Given the description of an element on the screen output the (x, y) to click on. 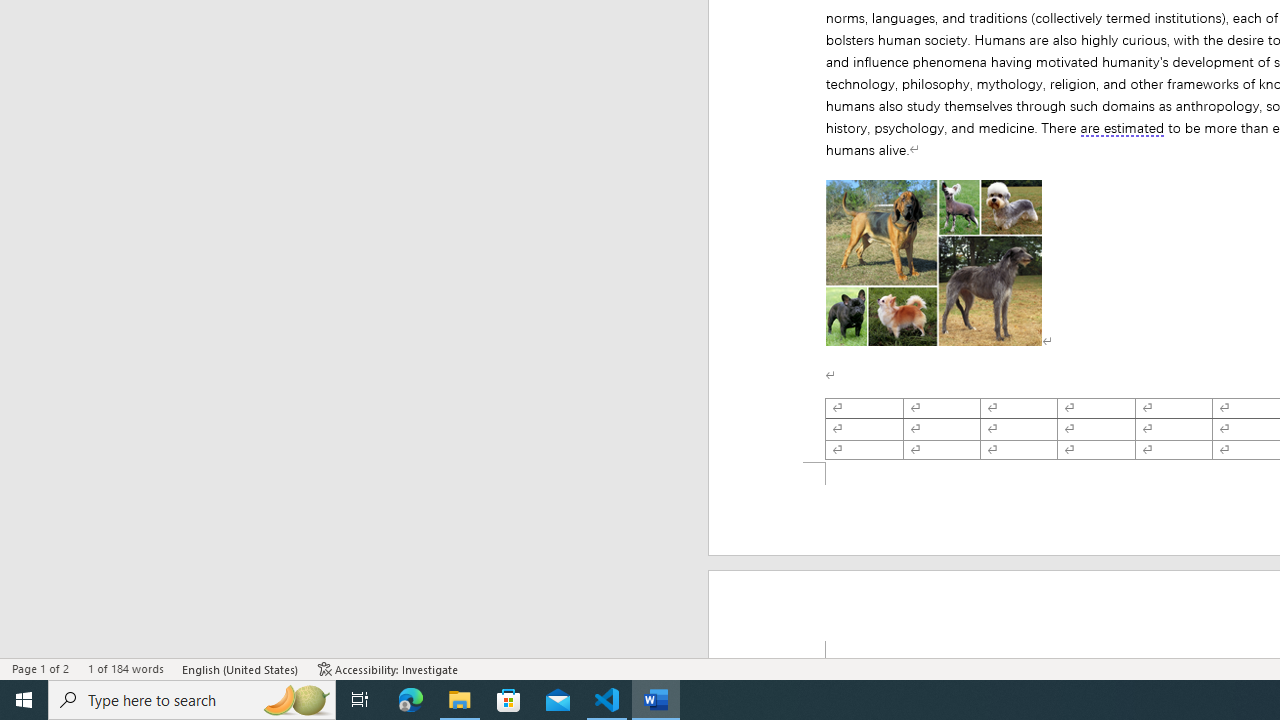
Page Number Page 1 of 2 (39, 668)
Word - 1 running window (656, 699)
File Explorer - 1 running window (460, 699)
Morphological variation in six dogs (933, 263)
Microsoft Edge (411, 699)
